Given the description of an element on the screen output the (x, y) to click on. 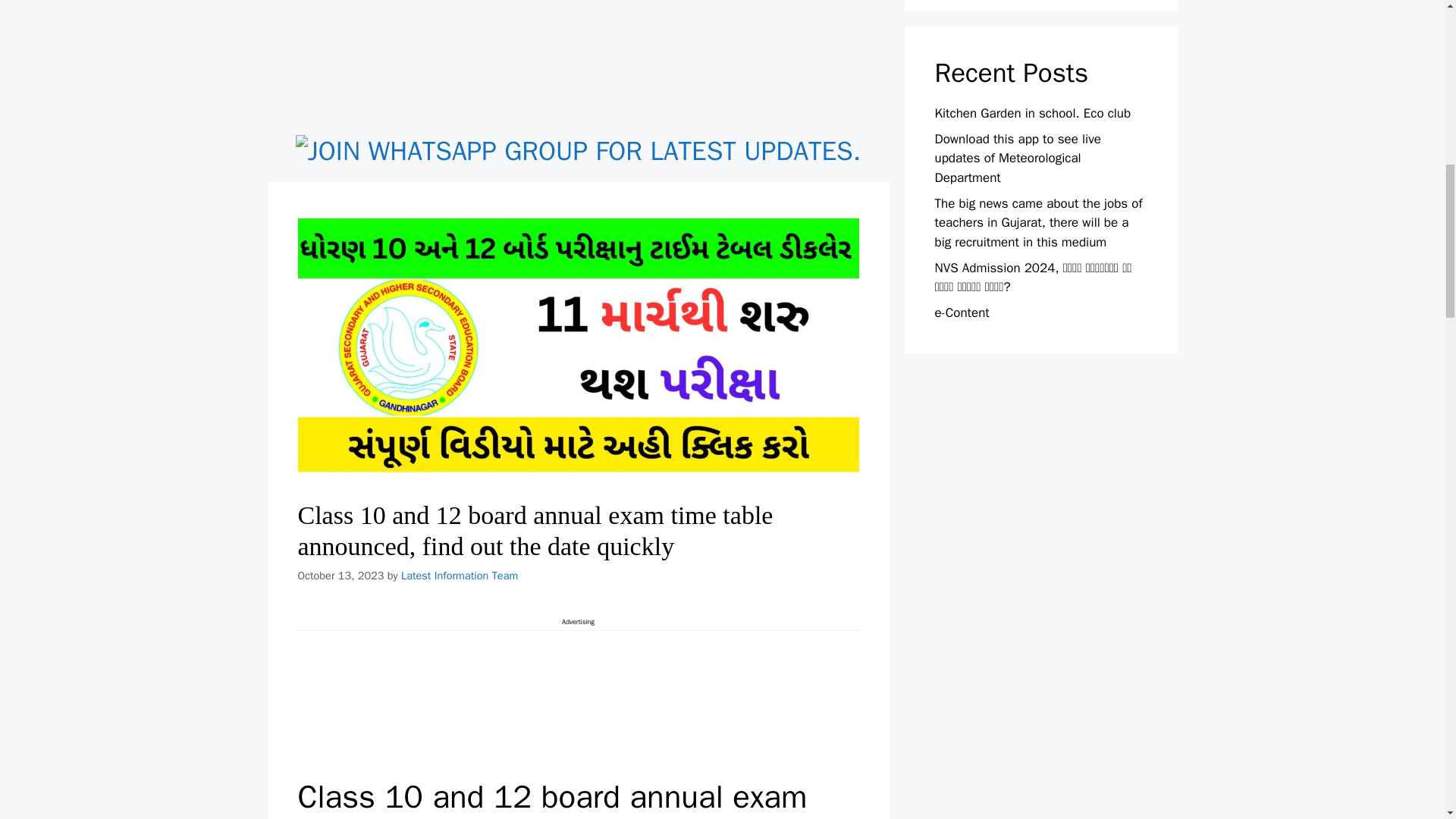
Latest Information Team (459, 575)
Kitchen Garden in school. Eco club (1032, 113)
e-Content (961, 312)
Advertisement (578, 701)
Advertisement (577, 64)
View all posts by Latest Information Team (459, 575)
